Given the description of an element on the screen output the (x, y) to click on. 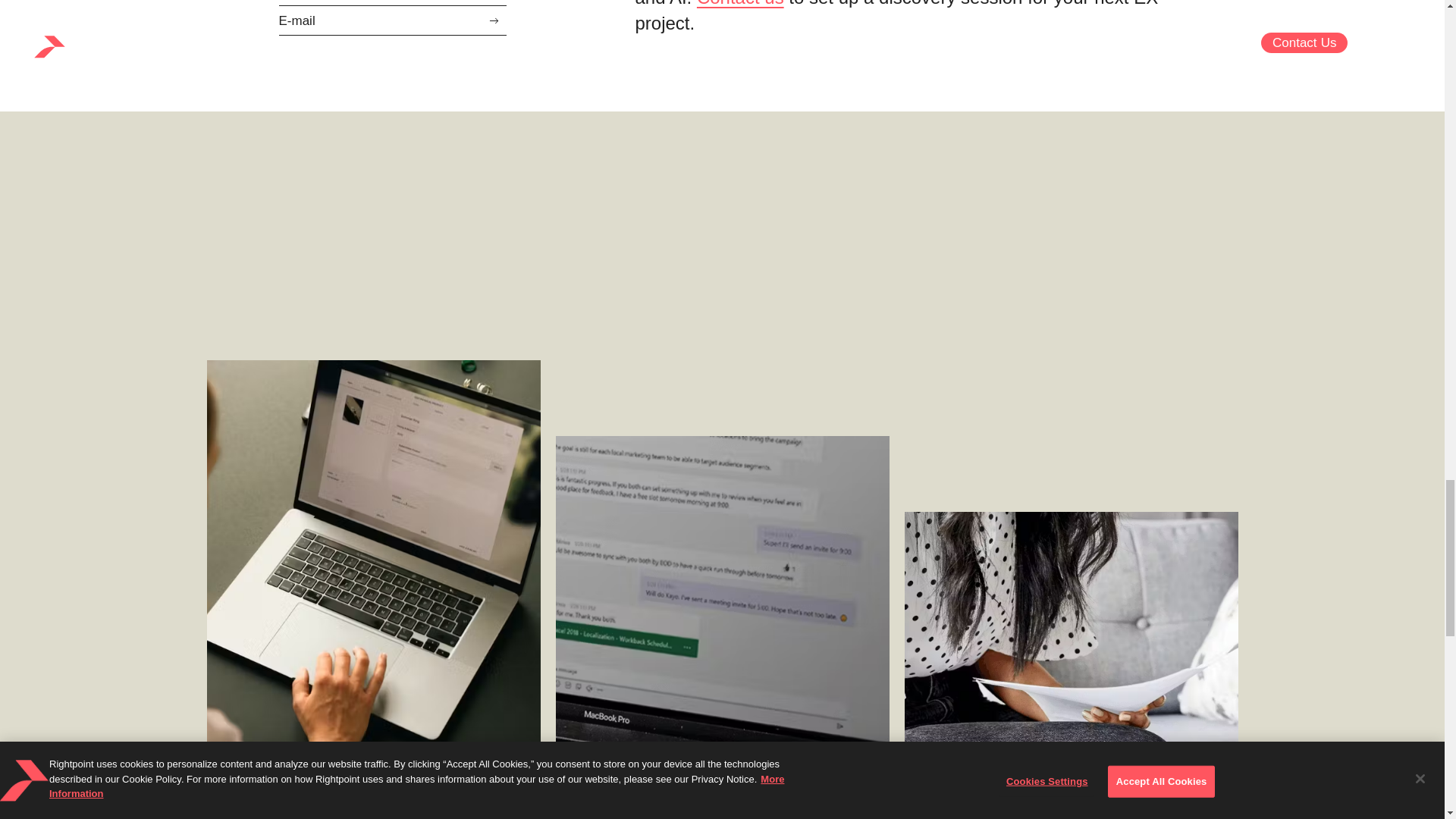
Contact us (740, 3)
